Given the description of an element on the screen output the (x, y) to click on. 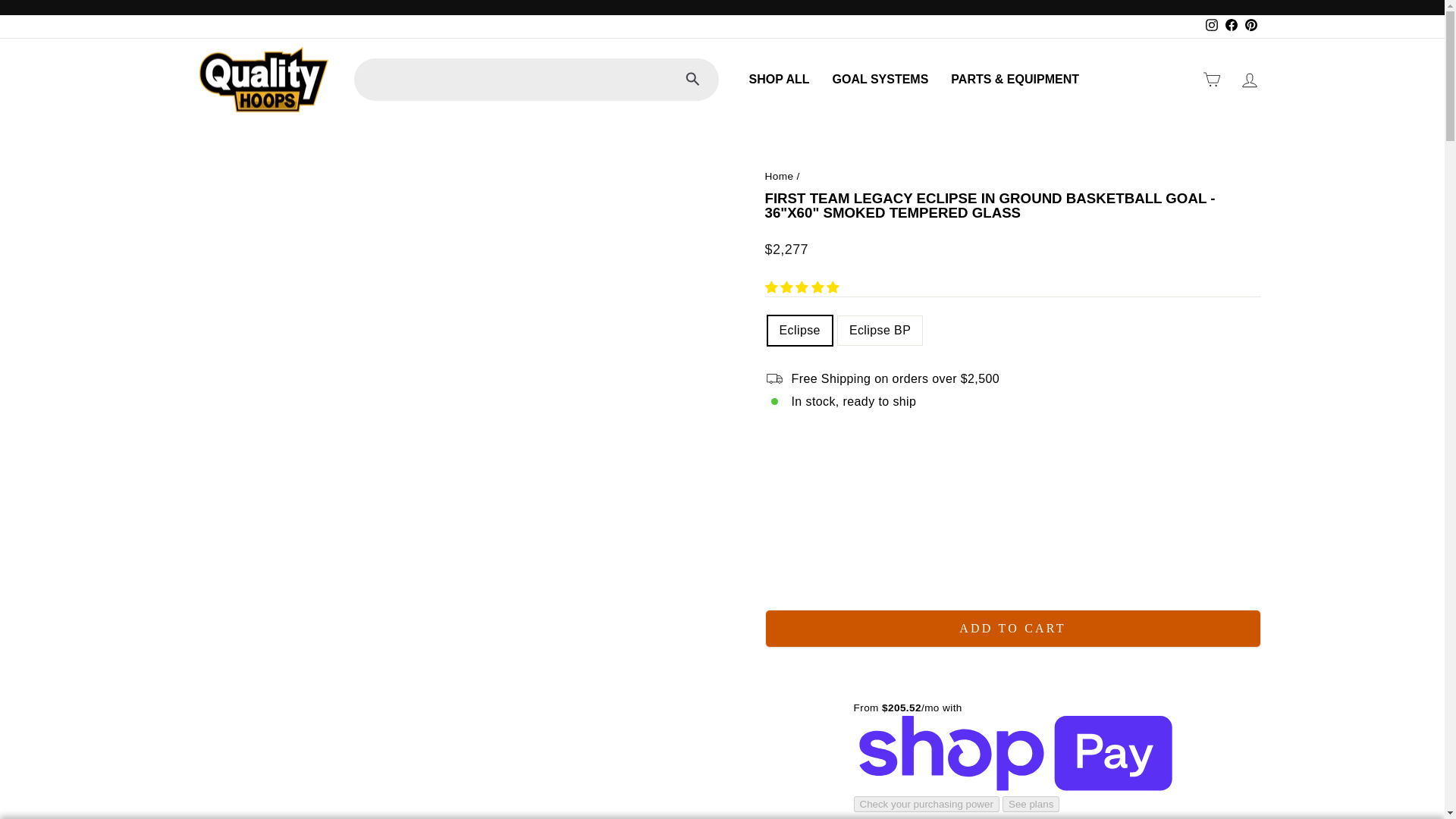
Back to the frontpage (778, 175)
GOAL SYSTEMS (880, 78)
SHOP ALL (778, 78)
